Given the description of an element on the screen output the (x, y) to click on. 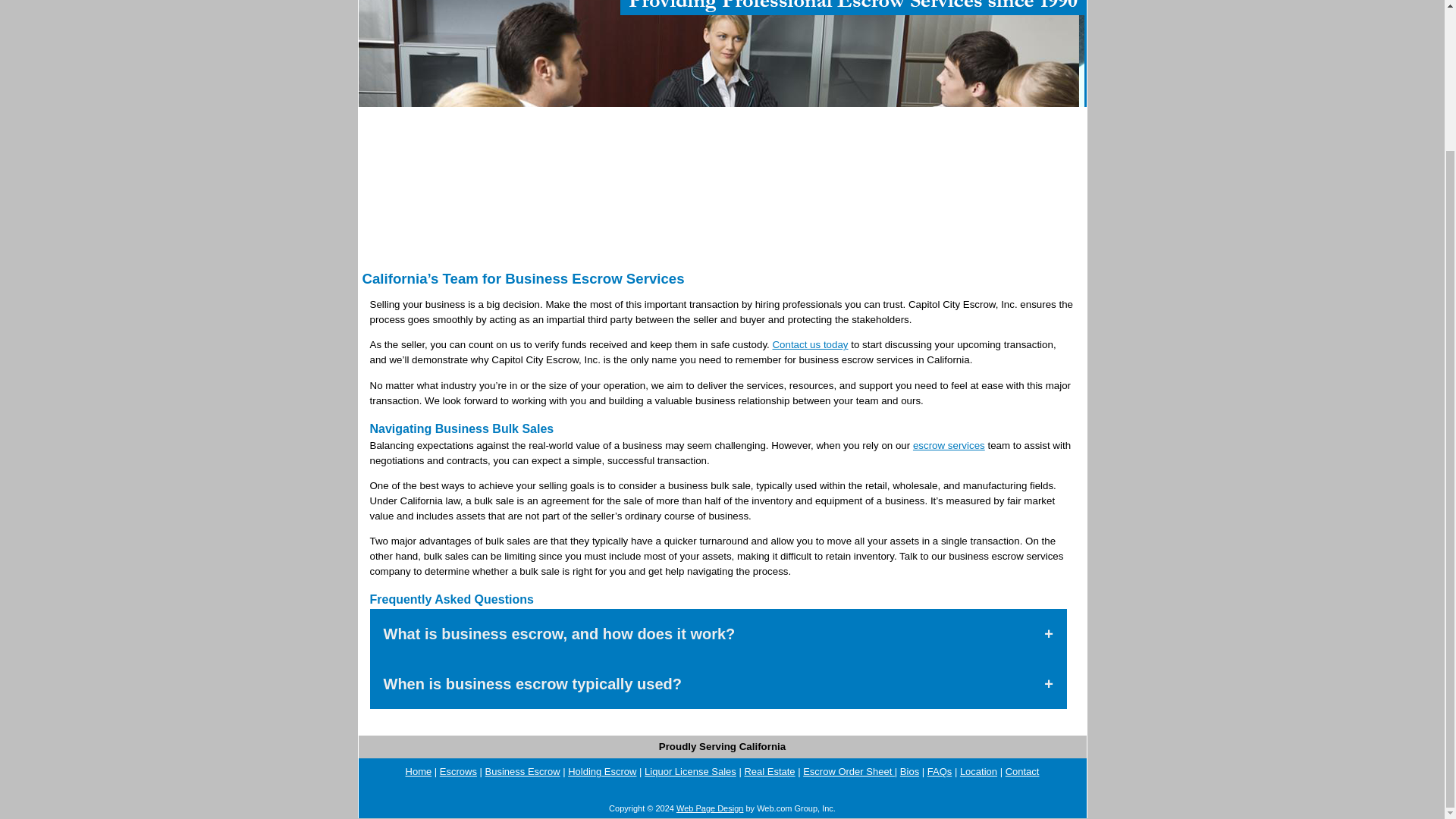
Liquor License Sales (690, 771)
Home (419, 771)
Real Estate (769, 771)
Holding Escrow (601, 771)
Contact (1022, 771)
Location (978, 771)
Contact us today (809, 344)
Web Page Design (709, 808)
escrow services (948, 445)
FAQs (939, 771)
